Given the description of an element on the screen output the (x, y) to click on. 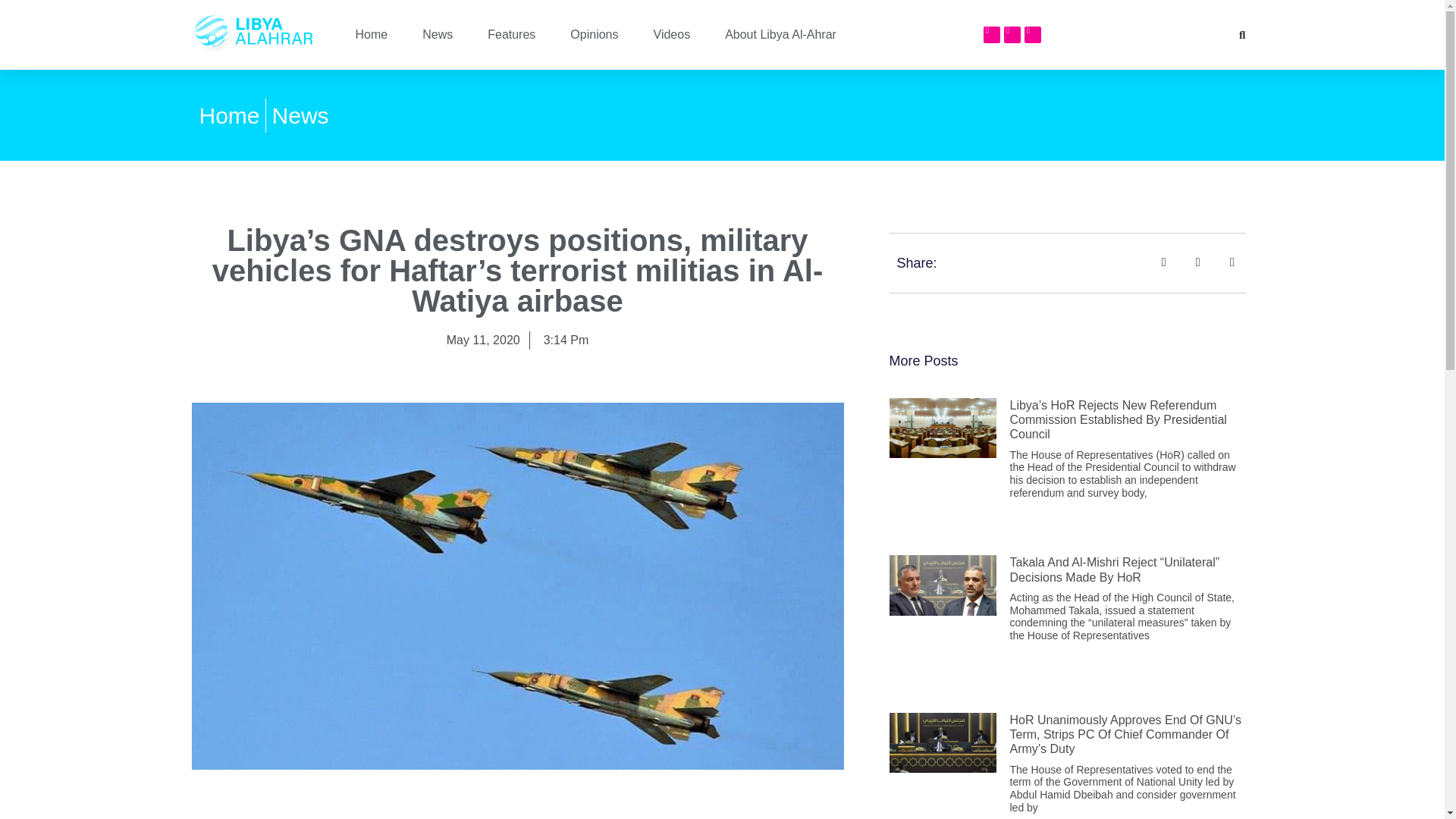
Opinions (593, 34)
Home (228, 115)
May 11, 2020 (482, 340)
About Libya Al-Ahrar (780, 34)
Videos (672, 34)
Features (510, 34)
Home (371, 34)
News (300, 115)
